Given the description of an element on the screen output the (x, y) to click on. 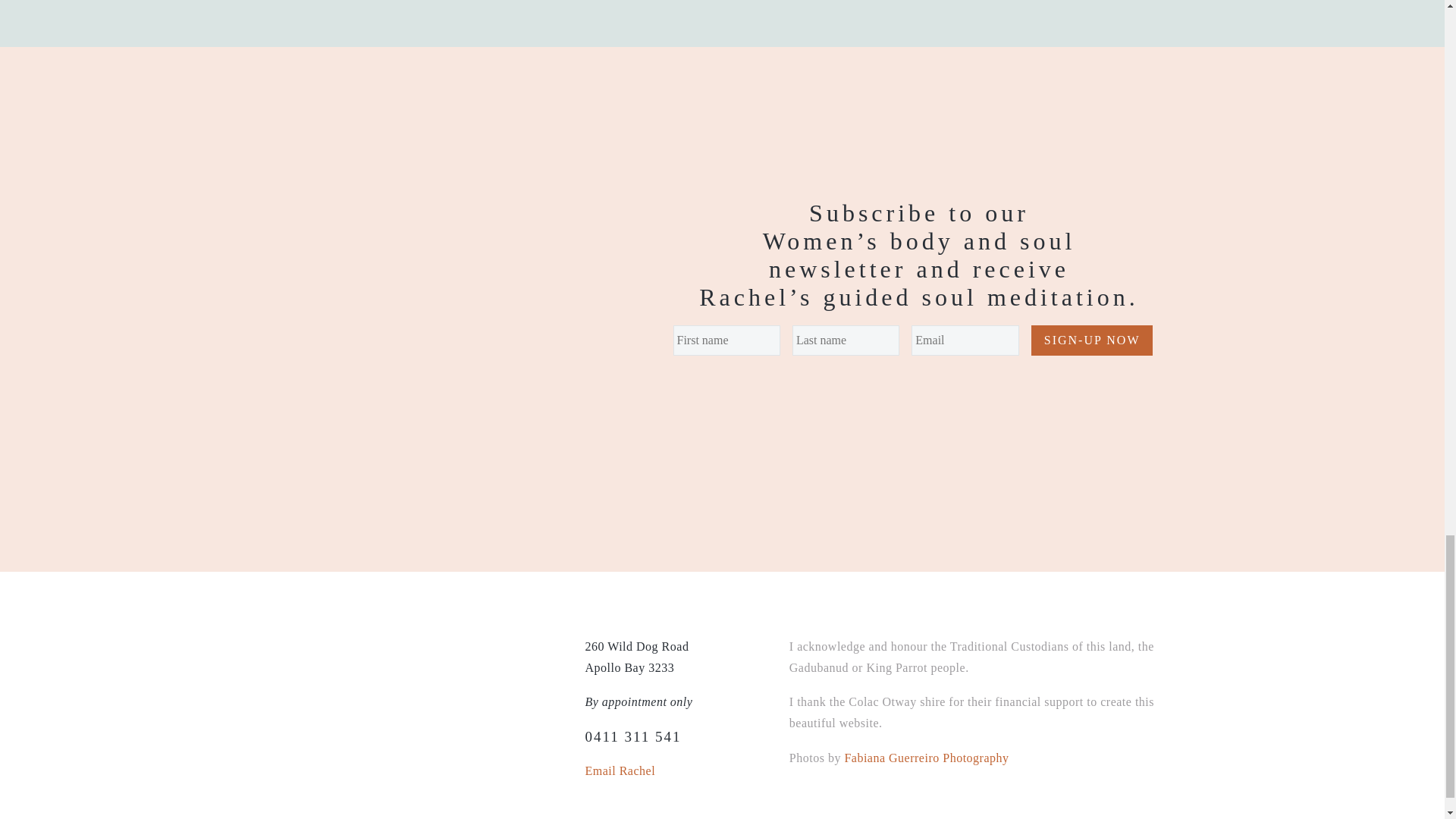
Email Rachel (620, 770)
Sign-up now (1091, 340)
Sign-up now (1091, 340)
Fabiana Guerreiro Photography (926, 757)
